Given the description of an element on the screen output the (x, y) to click on. 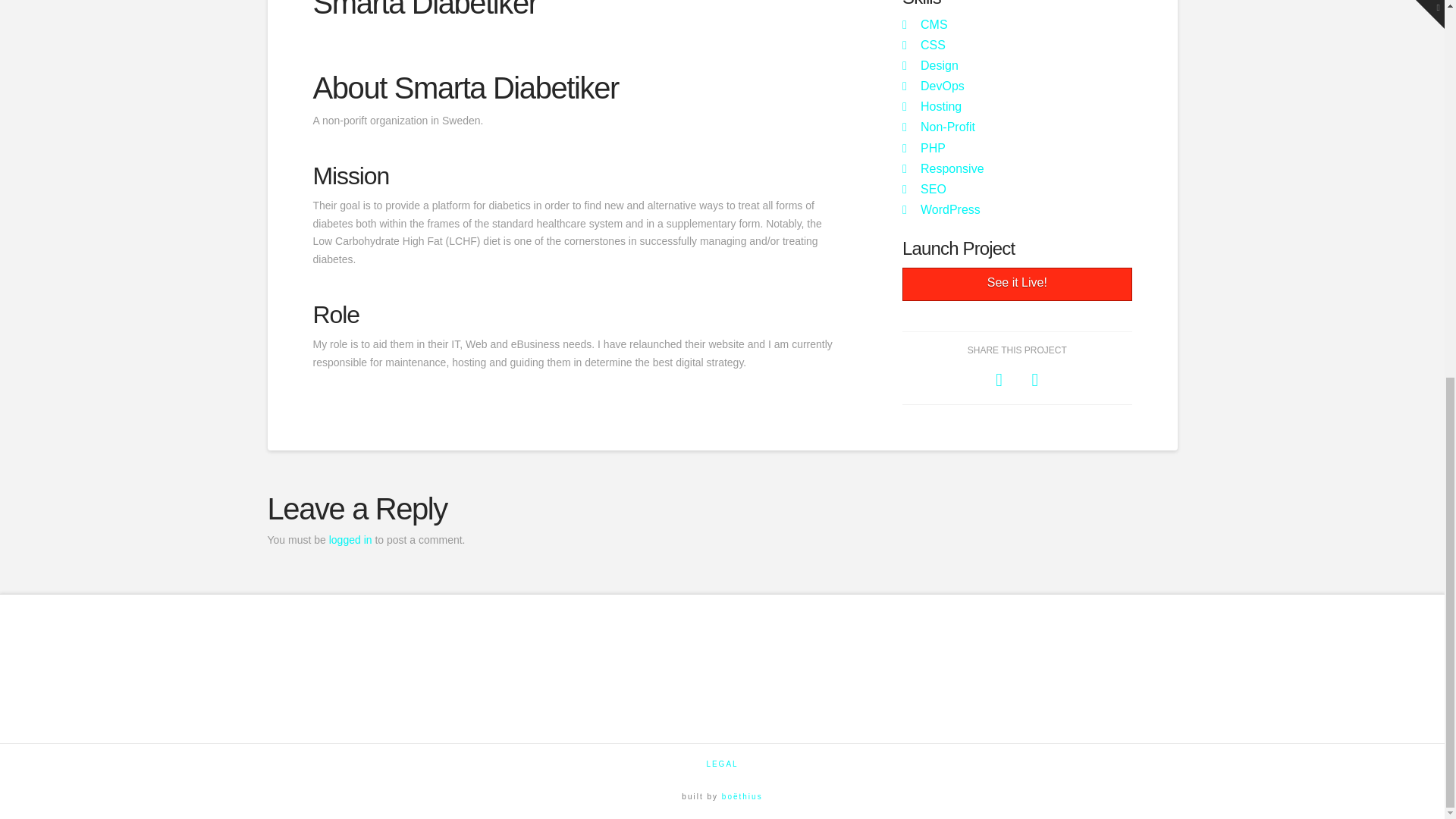
CMS (933, 24)
See it Live! (1016, 284)
Share on Facebook (998, 379)
logged in (350, 539)
Hosting (940, 106)
See it Live! (1016, 284)
CSS (932, 44)
Non-Profit (947, 126)
Design (939, 65)
Responsive (952, 168)
